Given the description of an element on the screen output the (x, y) to click on. 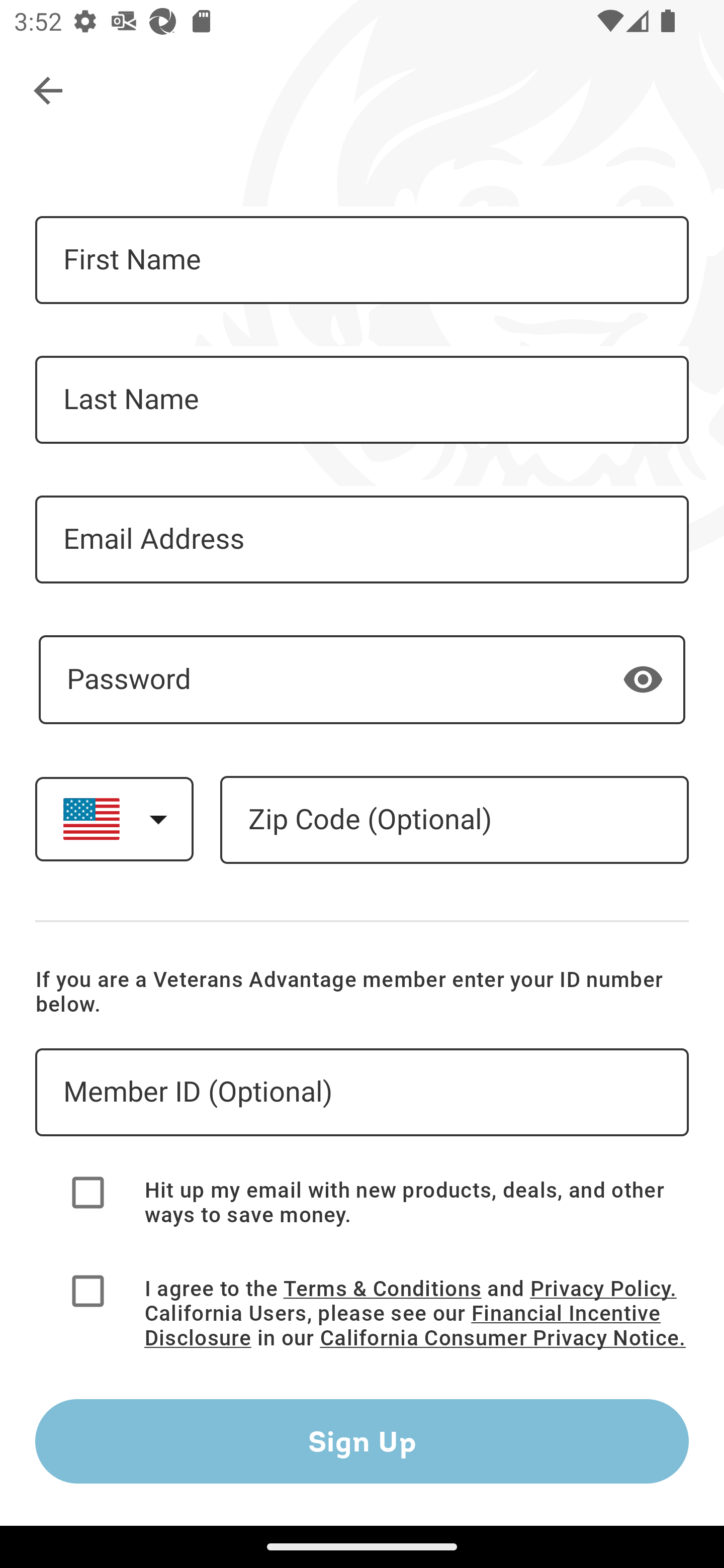
Navigate up (49, 91)
First Name - Required (361, 260)
Last Name - Required (361, 399)
Email Address - Required (361, 539)
- Required (361, 679)
Show password (642, 678)
Zip Code – Optional (454, 819)
Select a country. United States selected. (114, 818)
Veterans Advantage ID – Optional (361, 1092)
Sign Up (361, 1440)
